Given the description of an element on the screen output the (x, y) to click on. 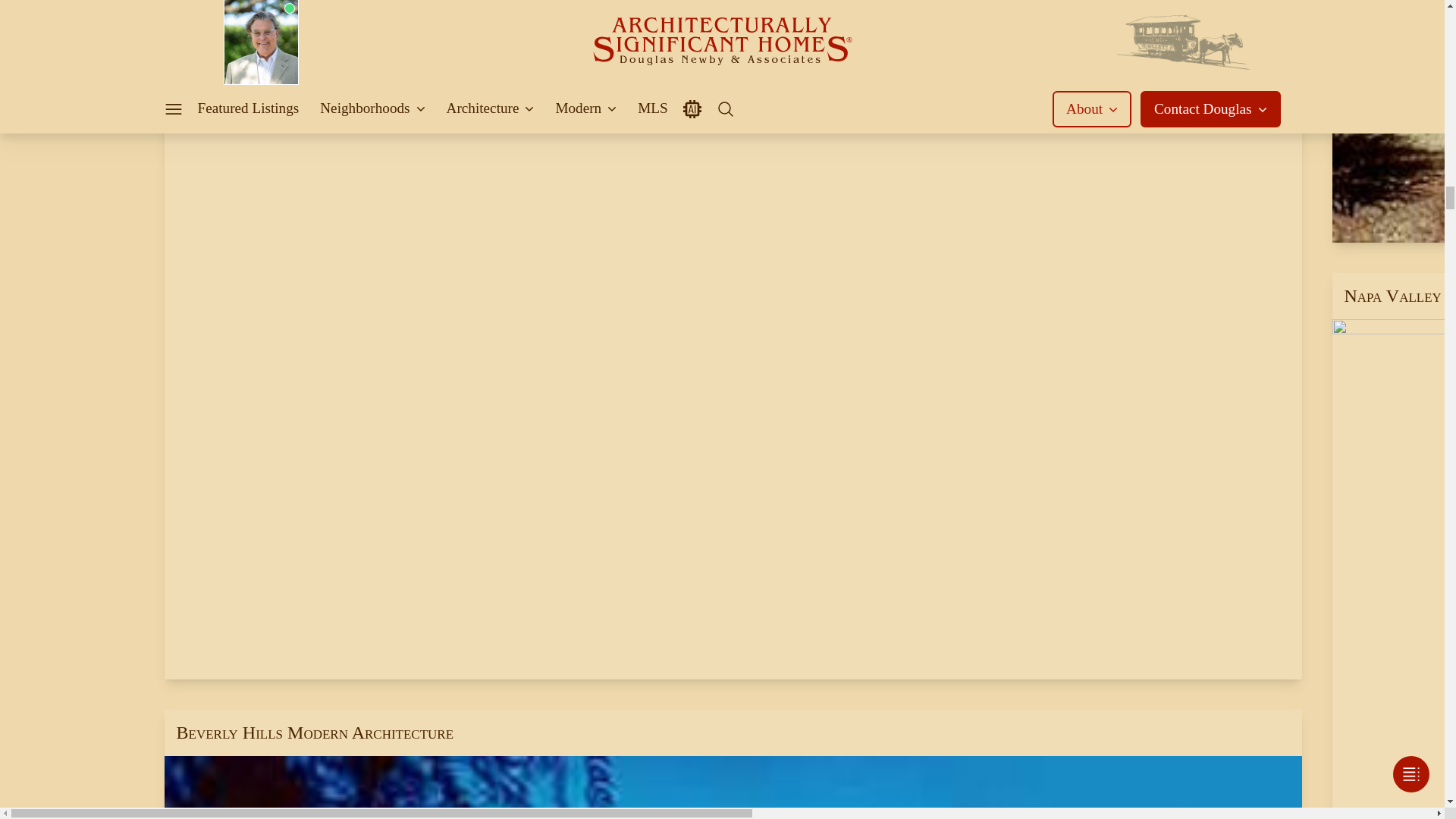
Beverly Hills Modern Architecture (732, 764)
